Given the description of an element on the screen output the (x, y) to click on. 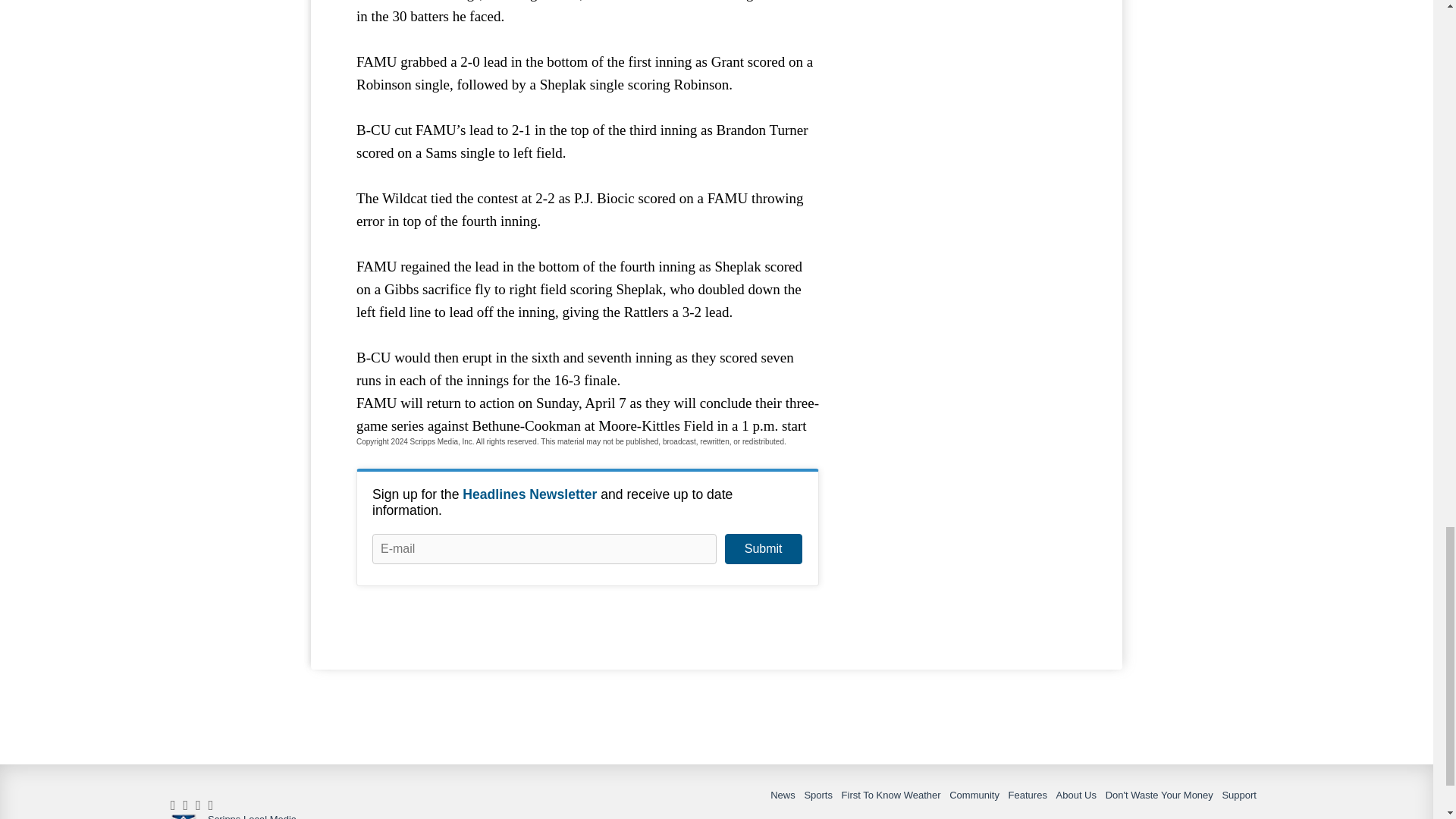
Submit (763, 548)
